Given the description of an element on the screen output the (x, y) to click on. 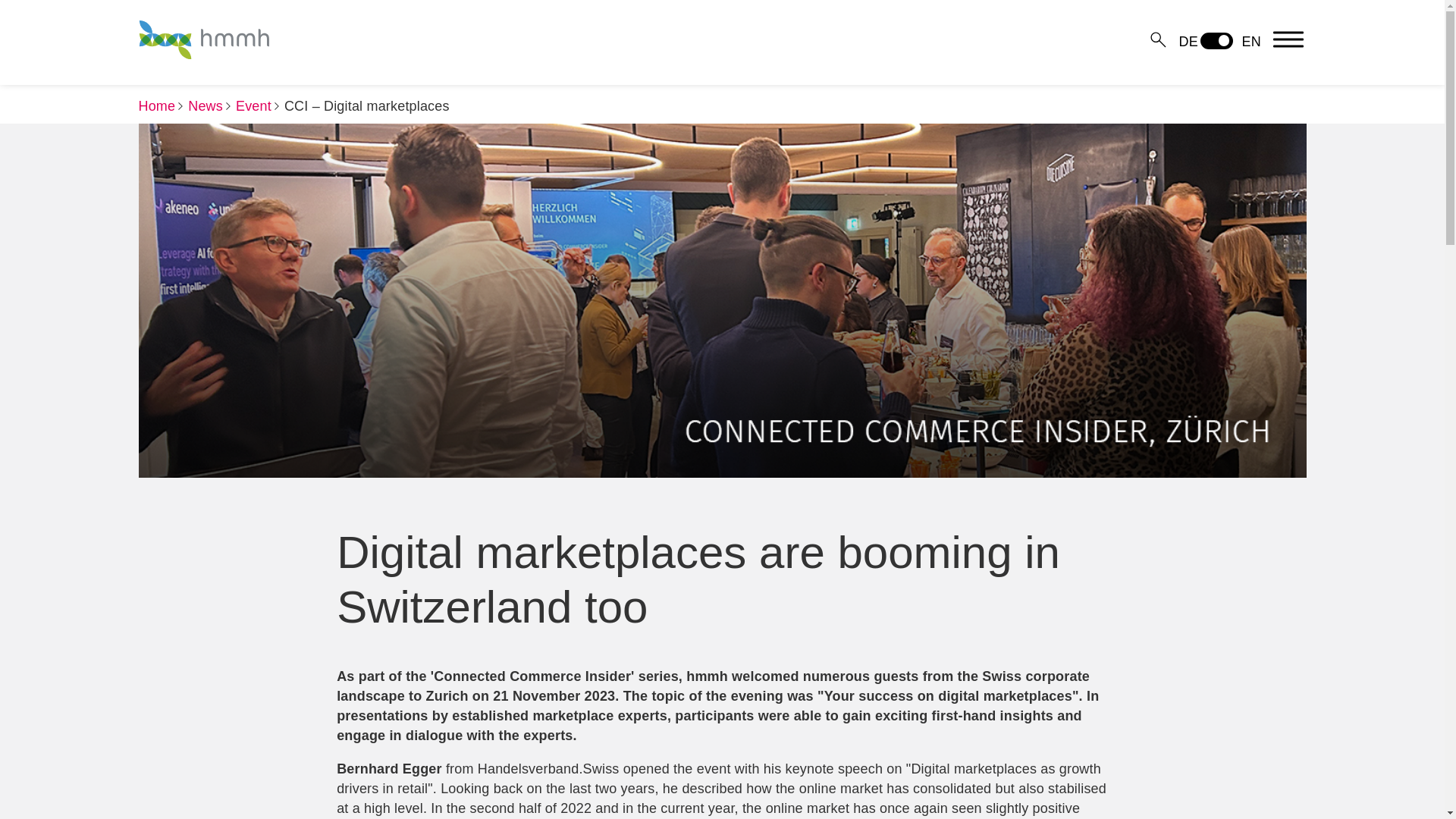
Menu (1287, 39)
hmmh.de (156, 106)
News (204, 106)
Event (252, 106)
Home (156, 106)
DE (1198, 41)
News (204, 106)
